Given the description of an element on the screen output the (x, y) to click on. 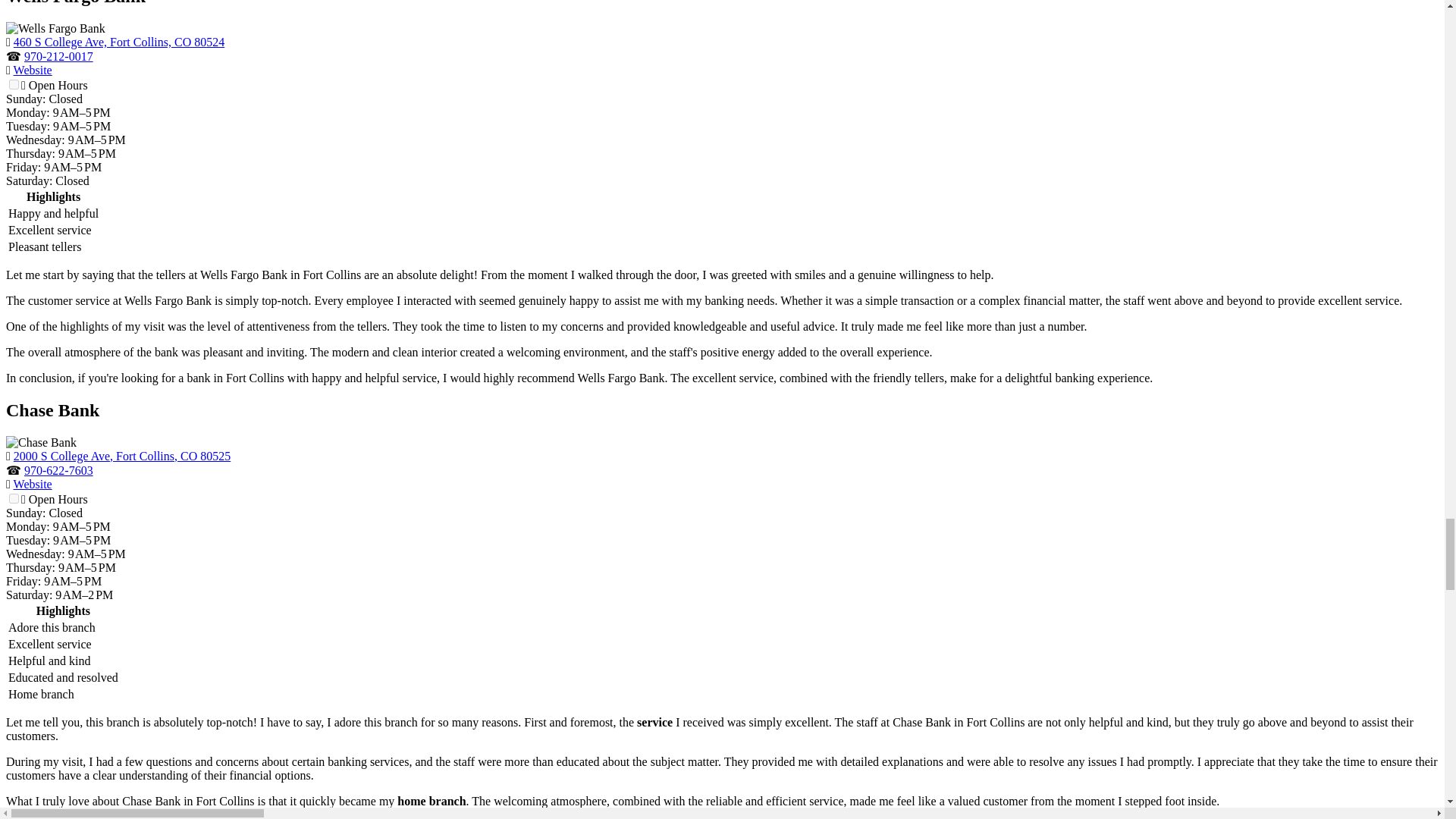
on (13, 84)
on (13, 498)
